Given the description of an element on the screen output the (x, y) to click on. 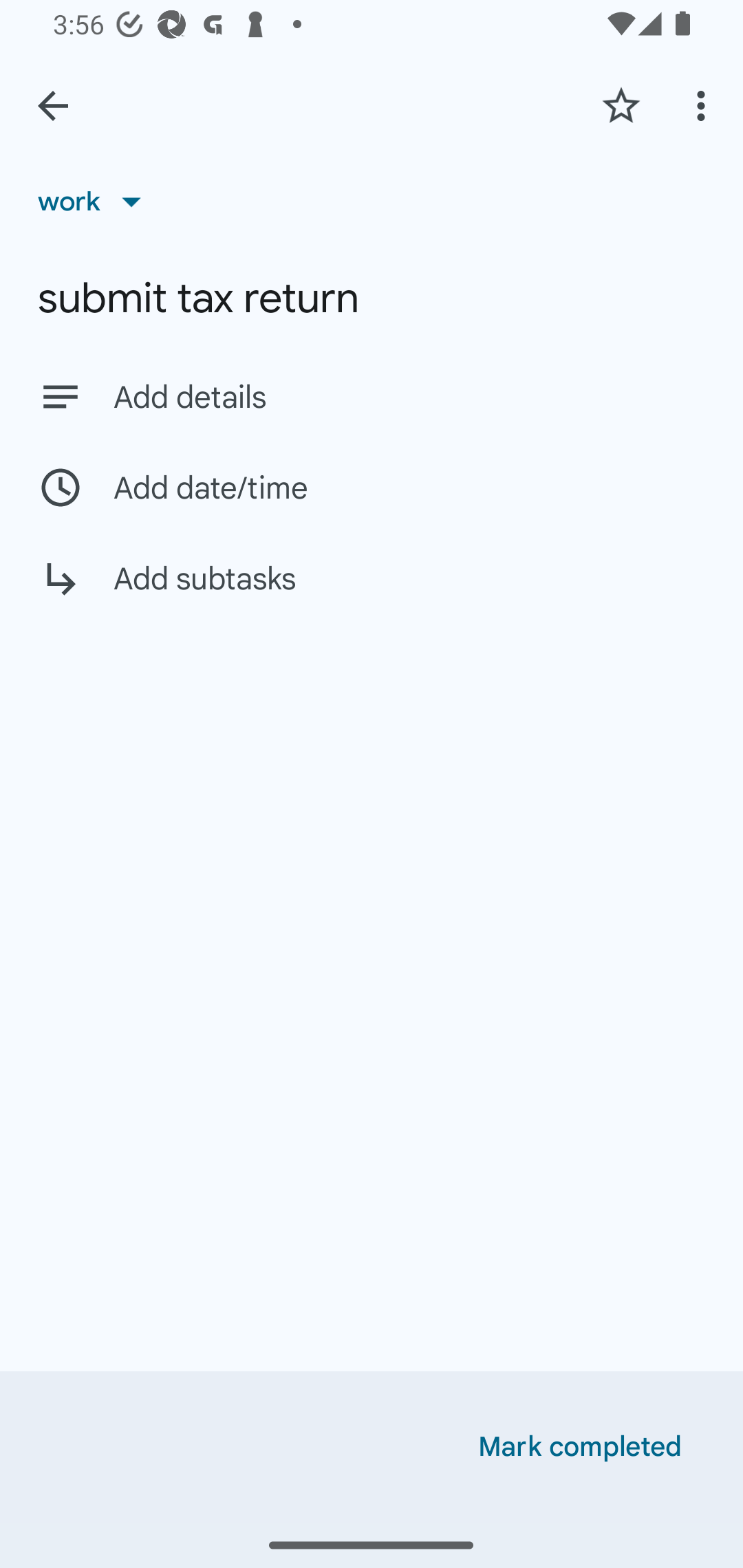
Back (53, 105)
Add star (620, 105)
More options (704, 105)
work List, work selected, 1 of 11 (95, 201)
submit tax return (371, 298)
Add details (371, 396)
Add details (409, 397)
Add date/time (371, 487)
Add subtasks (371, 593)
Mark completed (580, 1446)
